Given the description of an element on the screen output the (x, y) to click on. 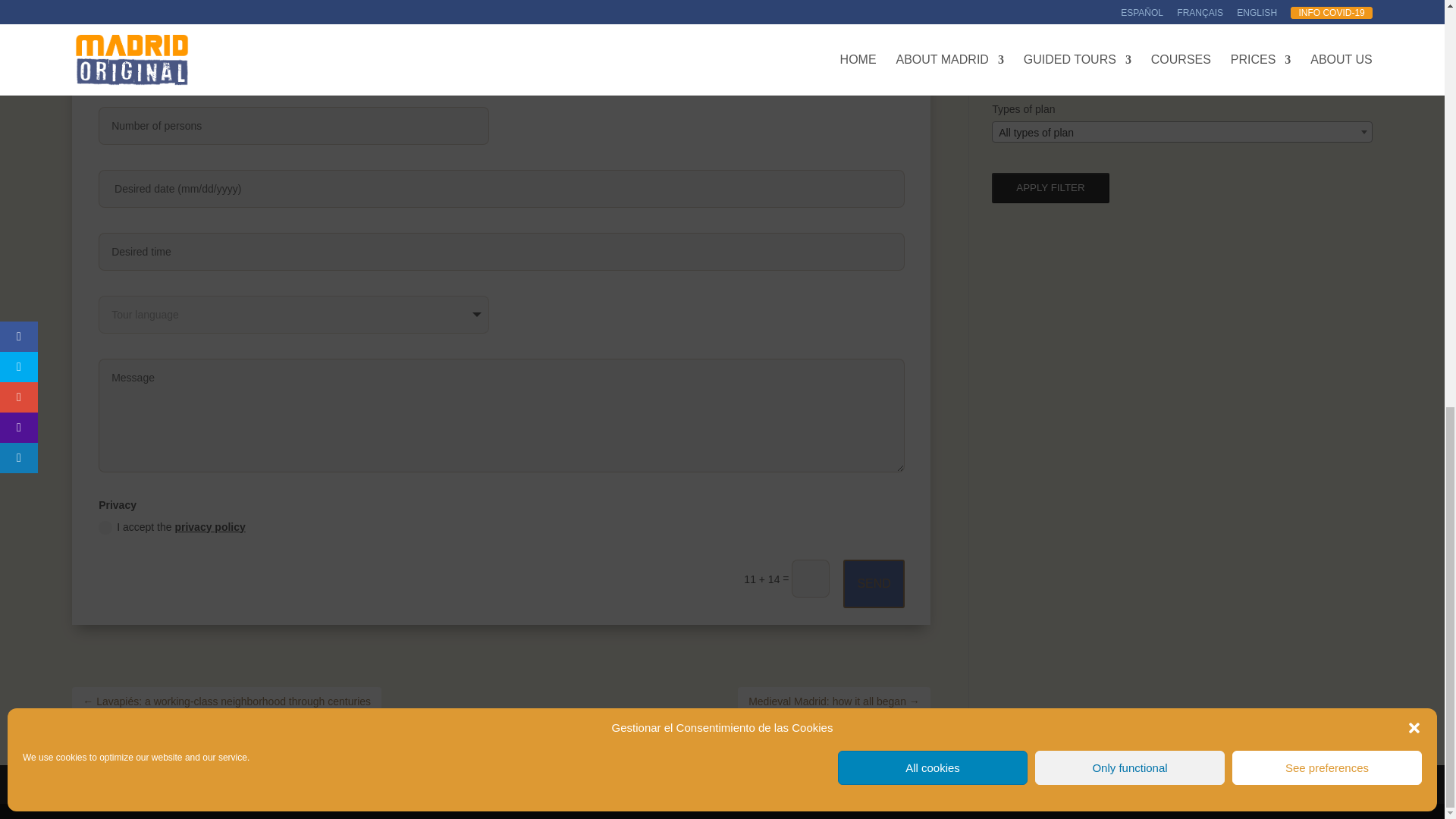
All places (1181, 76)
All interests (1181, 20)
All types of plan (1181, 132)
